Given the description of an element on the screen output the (x, y) to click on. 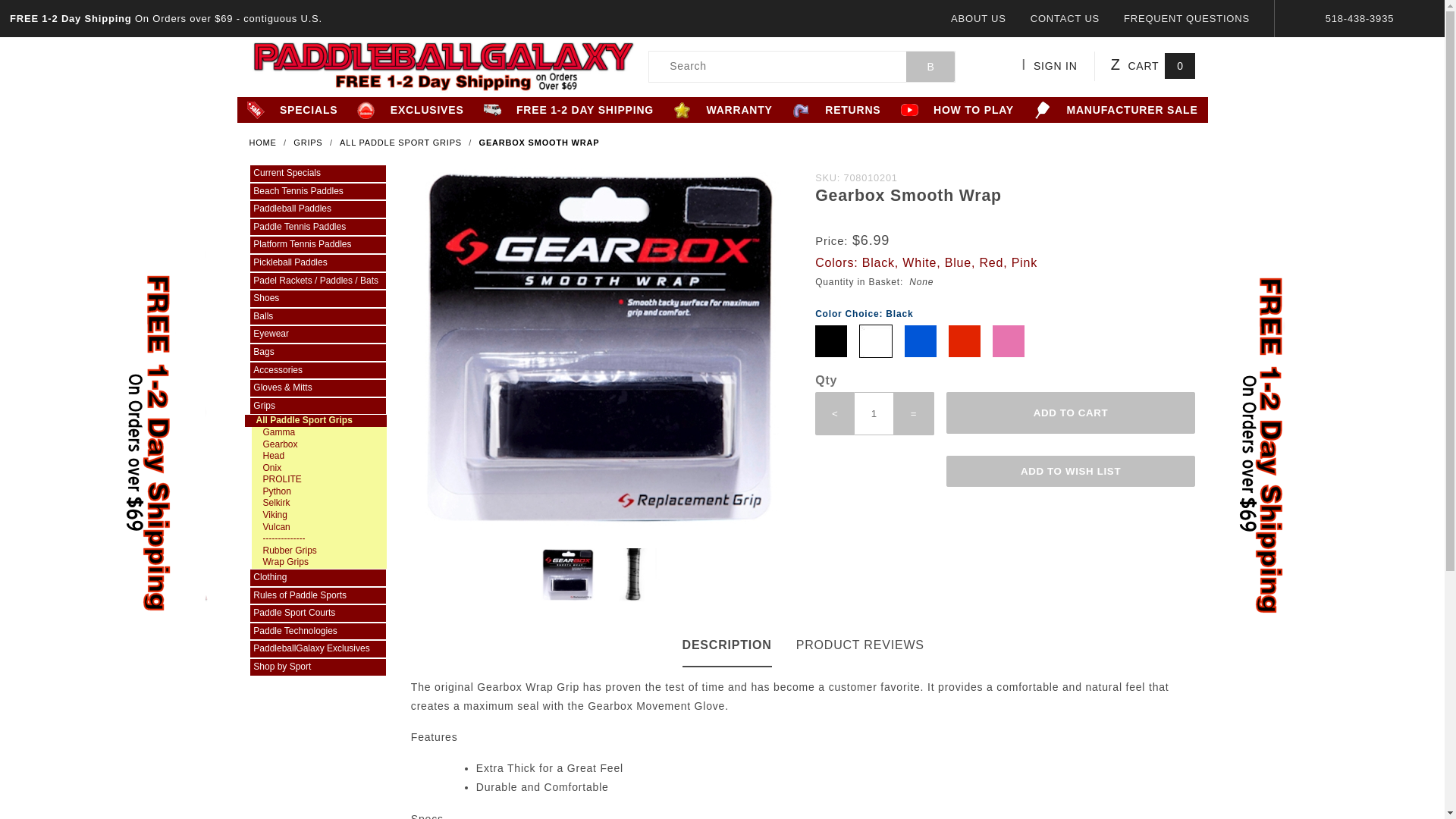
PaddleballGalaxy (442, 64)
About Us (978, 18)
Gearbox Smooth Wrap (539, 142)
SIGN IN (1058, 66)
Add To Cart (1070, 413)
Paddleball Galaxy Current Specials (316, 173)
WARRANTY (723, 109)
HOW TO PLAY (958, 109)
Current Specials (316, 173)
Paddleball Paddles (316, 208)
CONTACT US (1064, 18)
RETURNS (837, 109)
Home (263, 142)
1 (873, 413)
FREE 1-2 DAY SHIPPING (568, 109)
